Given the description of an element on the screen output the (x, y) to click on. 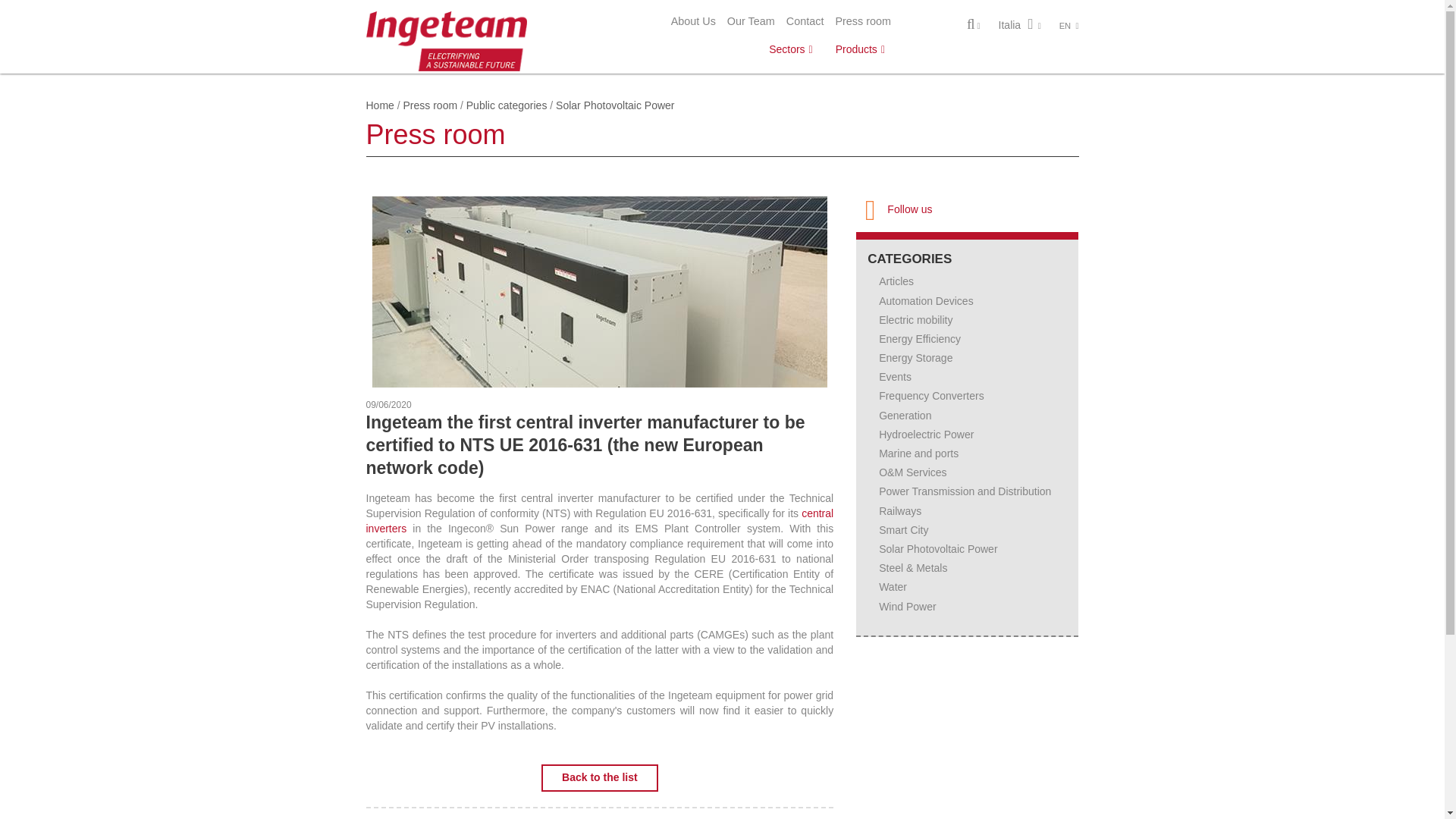
Our Team (750, 21)
About Us (692, 21)
Ingeteam (446, 39)
Press room (863, 21)
Contact (805, 21)
